Given the description of an element on the screen output the (x, y) to click on. 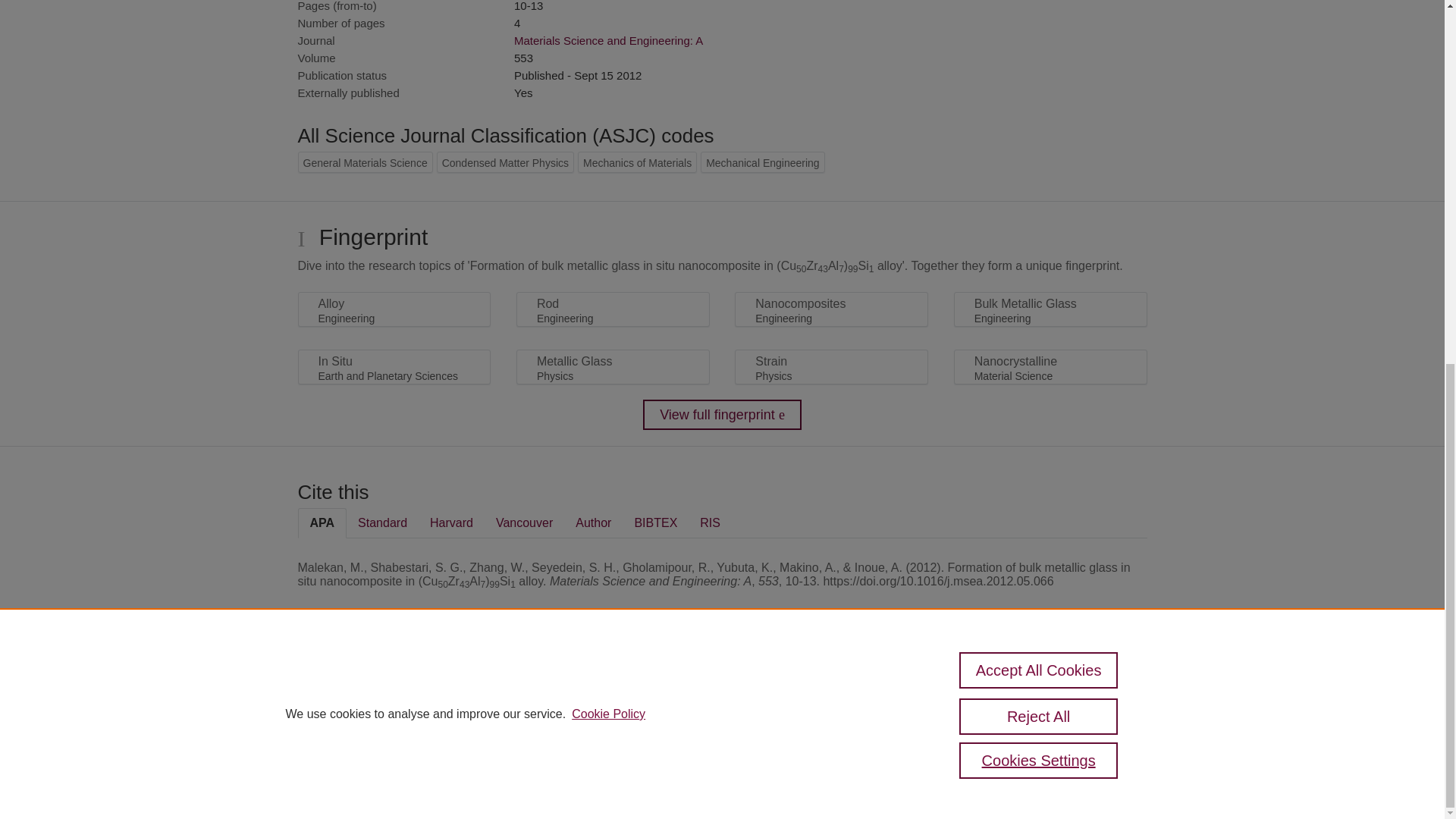
View full fingerprint (722, 414)
Elsevier B.V. (506, 707)
Pure (362, 686)
Scopus (394, 686)
Materials Science and Engineering: A (608, 40)
